Given the description of an element on the screen output the (x, y) to click on. 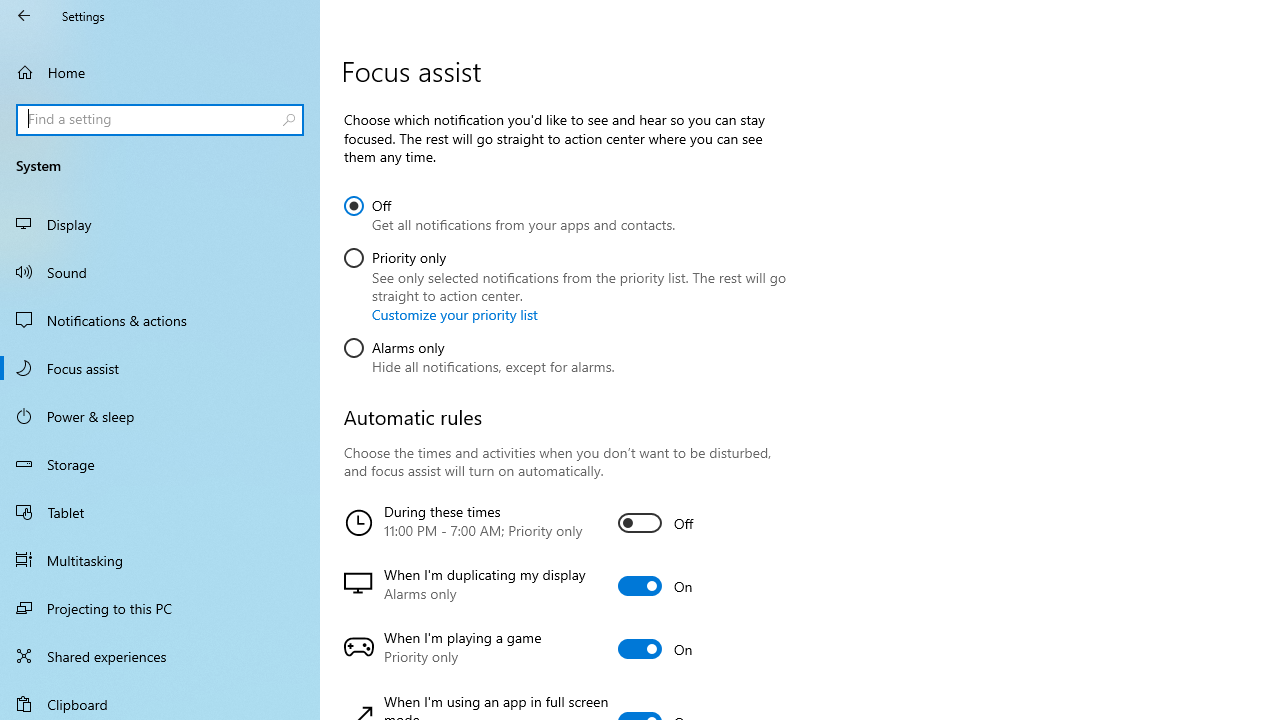
Display (160, 223)
Search box, Find a setting (160, 119)
Customize your priority list (454, 314)
Back (24, 15)
Sound (160, 271)
